Given the description of an element on the screen output the (x, y) to click on. 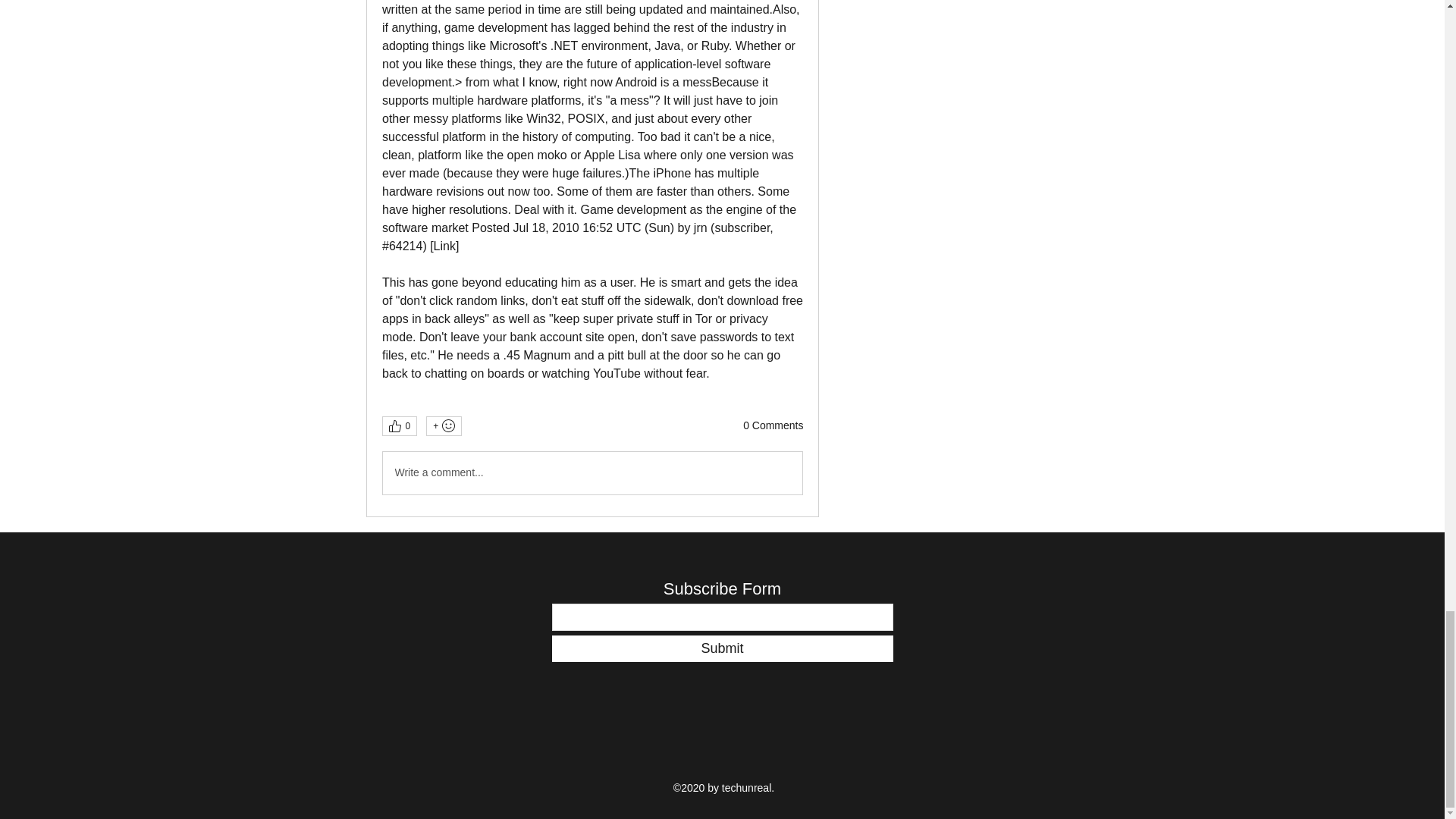
0 Comments (772, 426)
Write a comment... (591, 473)
Submit (722, 648)
